Given the description of an element on the screen output the (x, y) to click on. 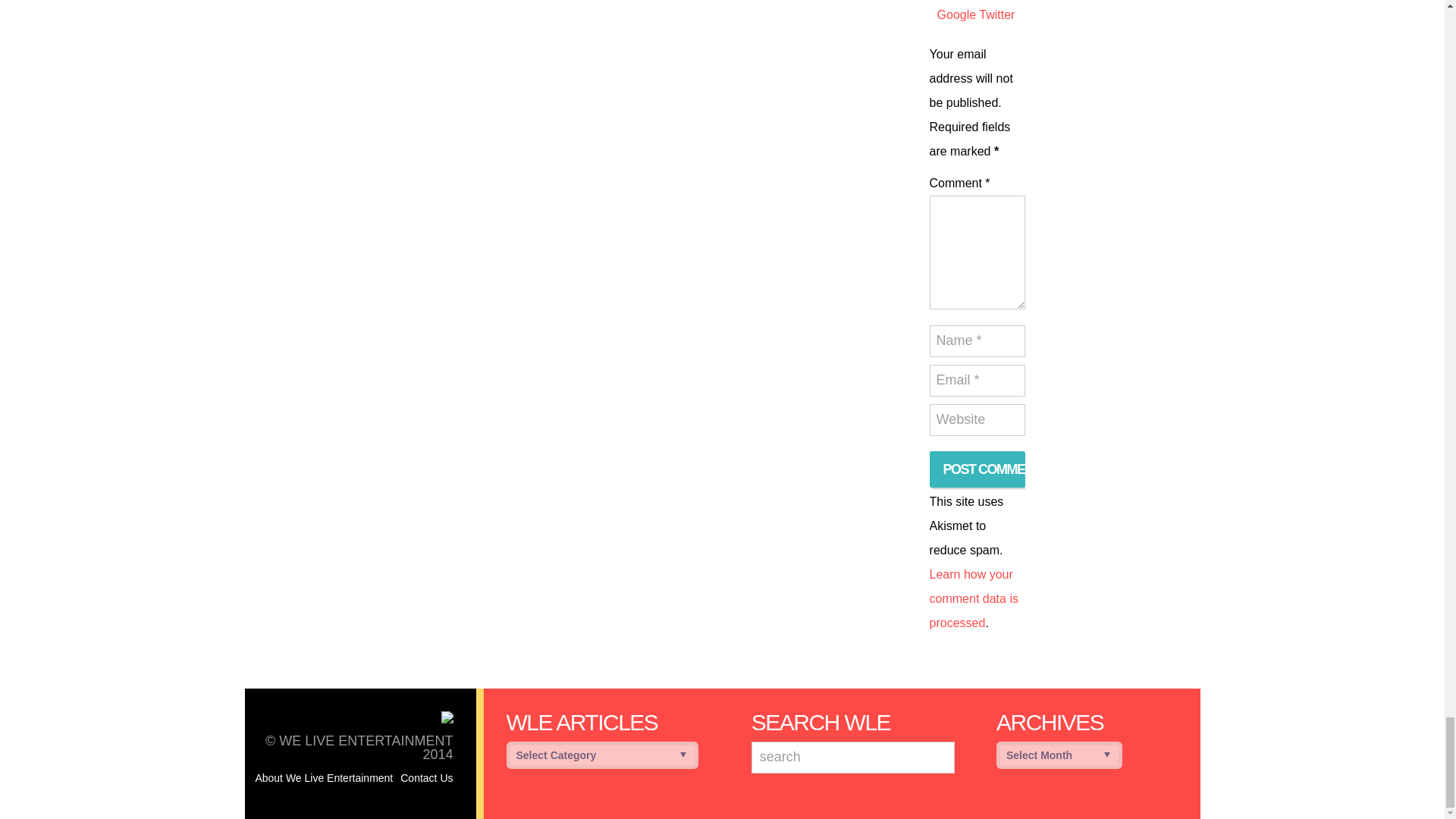
Post Comment (977, 469)
